Given the description of an element on the screen output the (x, y) to click on. 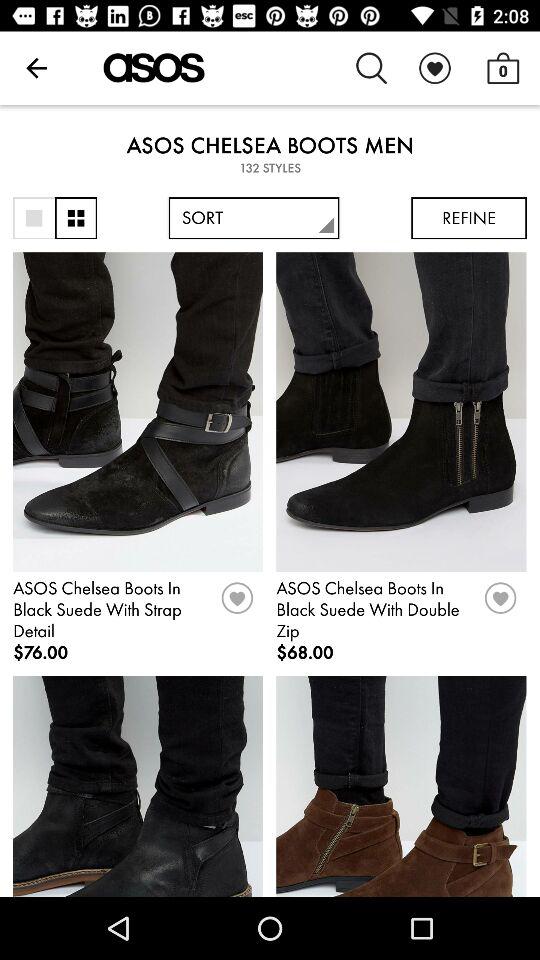
add to favorites (500, 605)
